Given the description of an element on the screen output the (x, y) to click on. 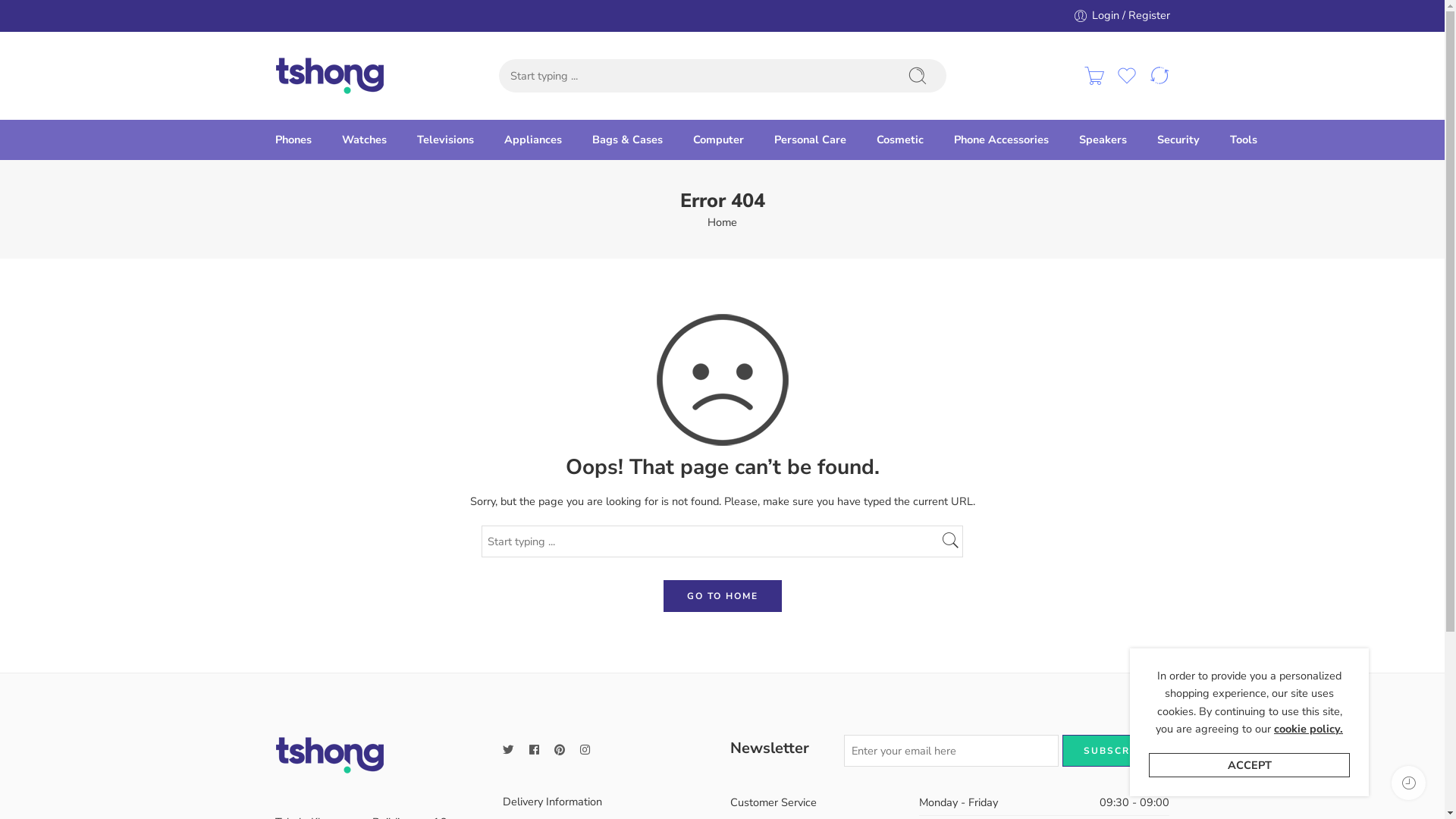
Delivery Information Element type: text (608, 801)
Home Element type: text (722, 222)
Appliances Element type: text (532, 139)
Wishlist Element type: hover (1126, 75)
Speakers Element type: text (1102, 139)
Phone Accessories Element type: text (1000, 139)
Security Element type: text (1178, 139)
cookie policy. Element type: text (1308, 728)
Phones Element type: text (292, 139)
GO TO HOME Element type: text (721, 595)
Tshong - Cheaper than market Element type: hover (328, 75)
Follow us on Pinterest Element type: hover (558, 750)
Follow us on Twitter Element type: hover (507, 750)
Personal Care Element type: text (809, 139)
Tools Element type: text (1243, 139)
SUBSCRIBE Element type: text (1116, 750)
ACCEPT Element type: text (1248, 765)
Recently Viewed Element type: hover (1408, 782)
Login / Register Element type: text (1120, 15)
Follow us on Facebook Element type: hover (534, 750)
Cosmetic Element type: text (899, 139)
Customer Service Element type: text (816, 802)
Follow us on Instagram Element type: hover (584, 750)
Televisions Element type: text (445, 139)
Computer Element type: text (718, 139)
Bags & Cases Element type: text (626, 139)
Cart Element type: hover (1093, 75)
Watches Element type: text (363, 139)
Compare Element type: hover (1158, 75)
